Given the description of an element on the screen output the (x, y) to click on. 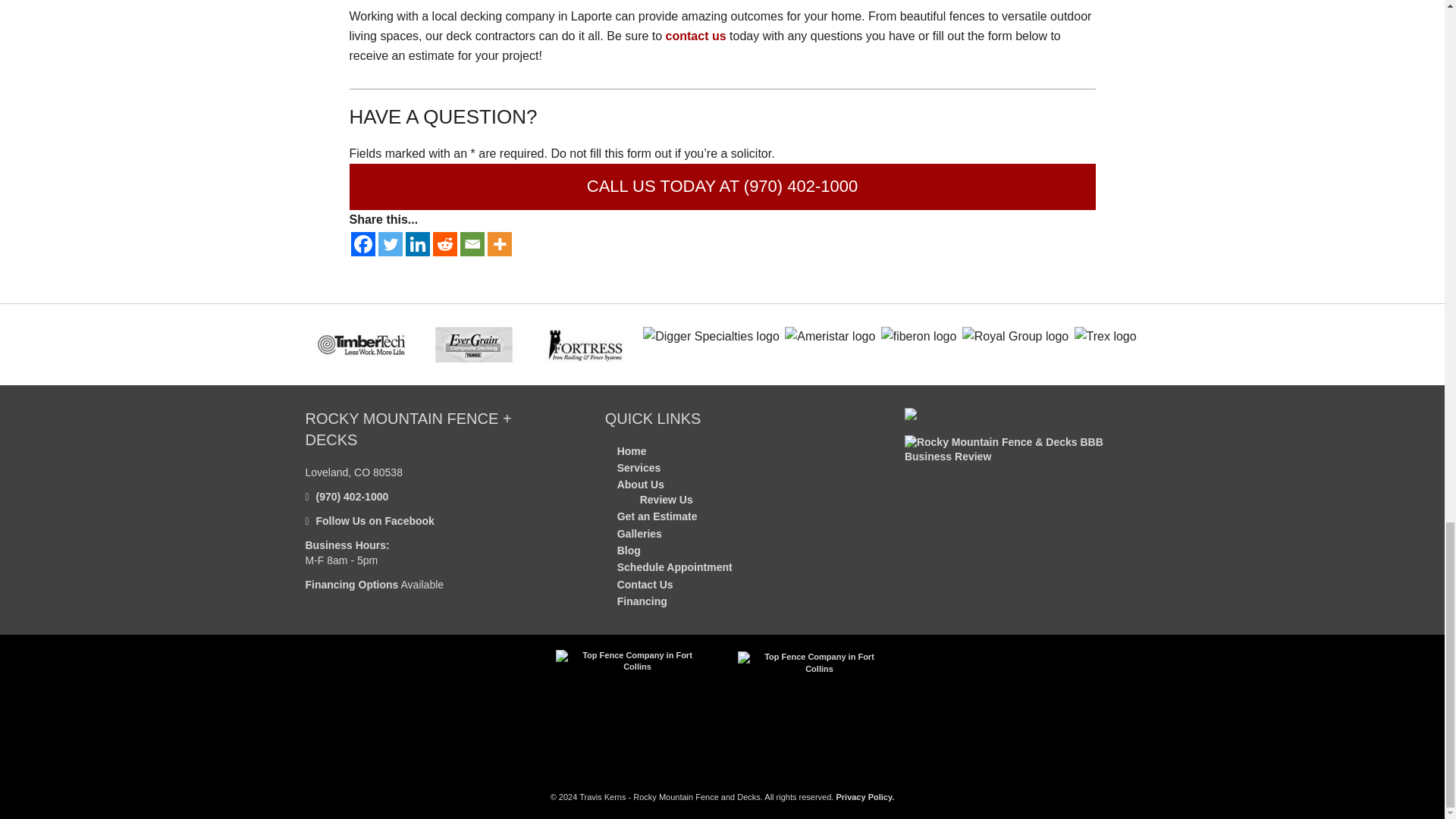
Email (471, 243)
Linkedin (416, 243)
Reddit (444, 243)
Twitter (389, 243)
More (498, 243)
Facebook (362, 243)
